Given the description of an element on the screen output the (x, y) to click on. 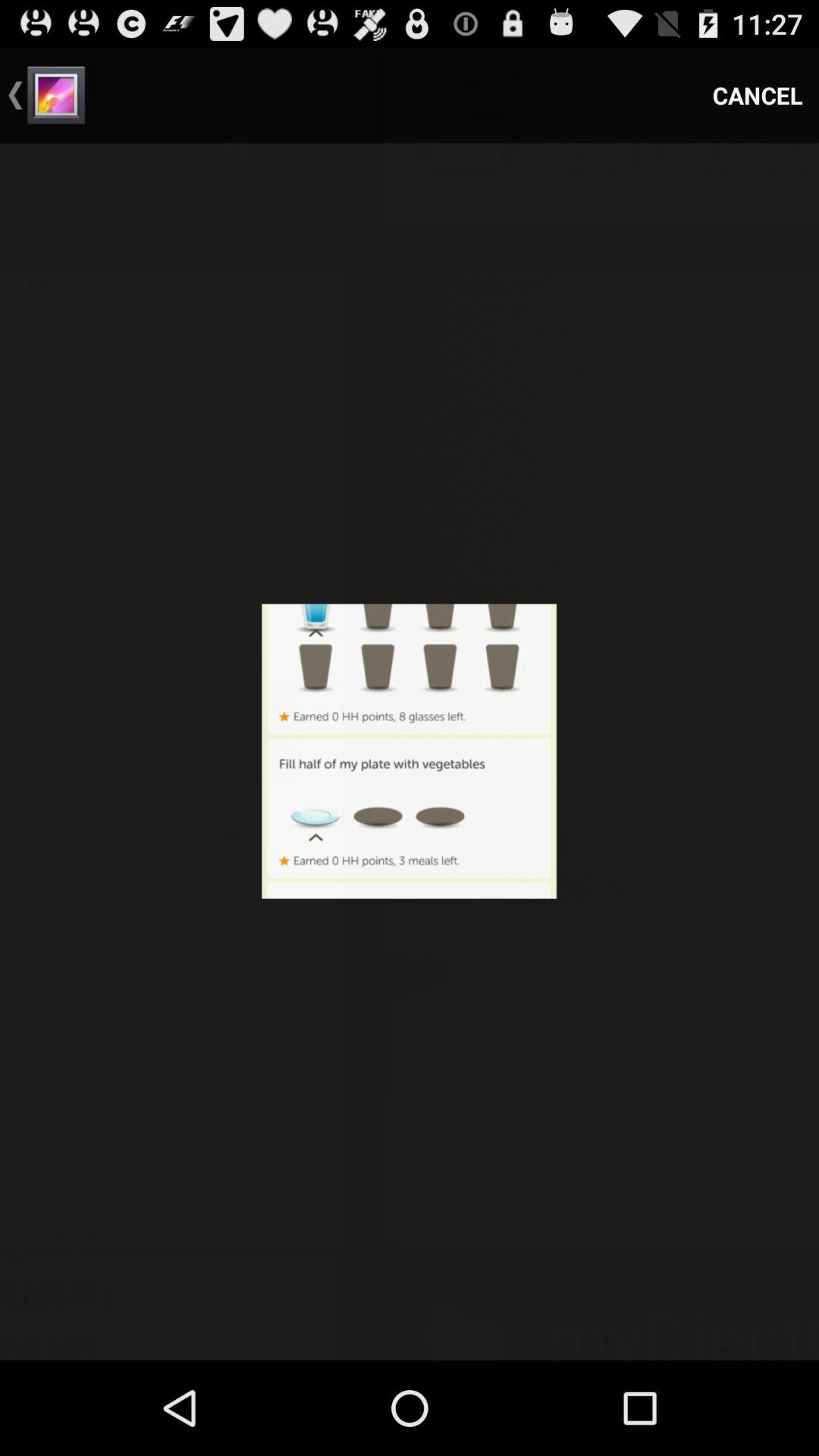
select the cancel (757, 95)
